Given the description of an element on the screen output the (x, y) to click on. 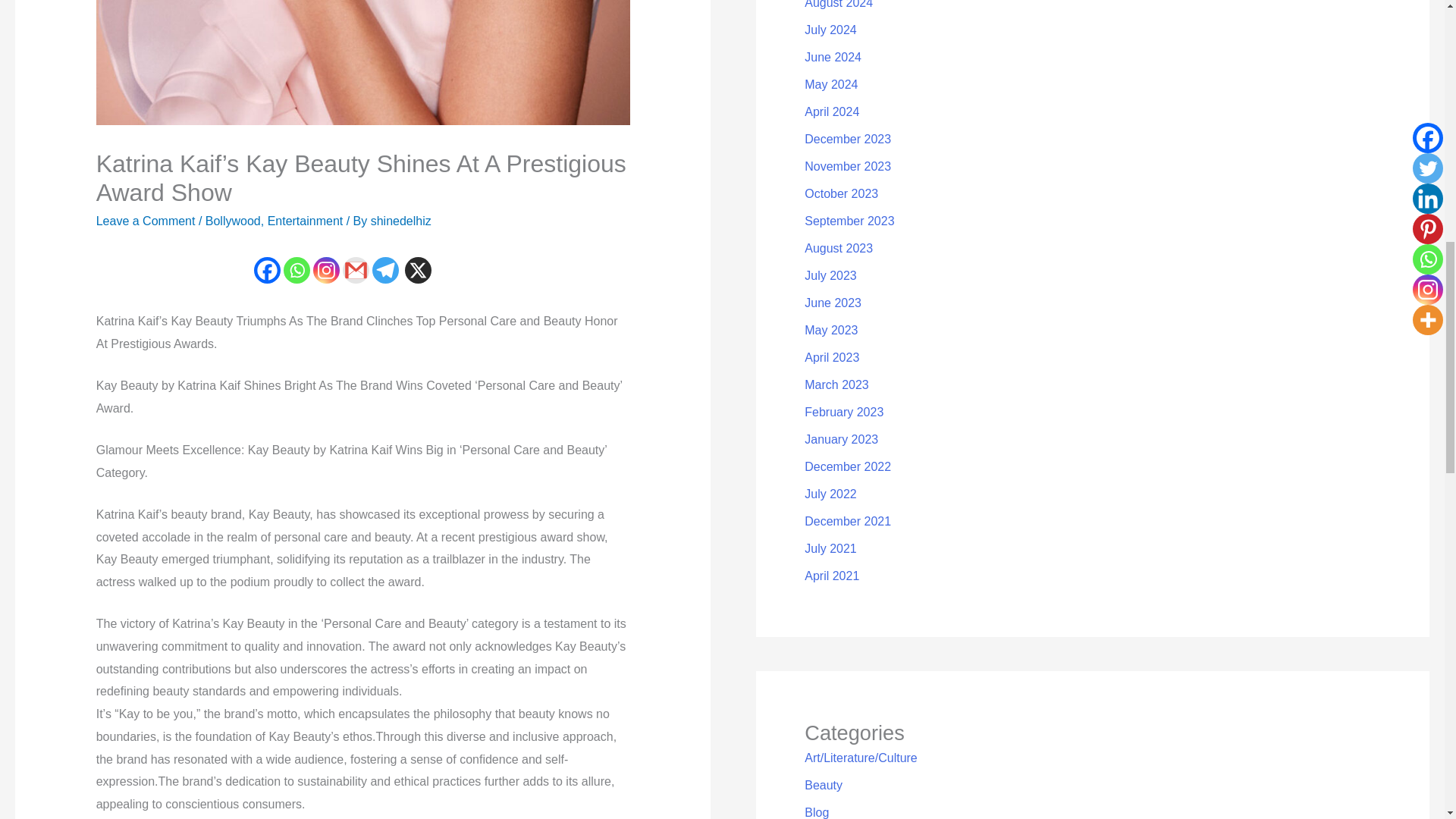
X (417, 270)
Whatsapp (296, 270)
Telegram (385, 270)
View all posts by shinedelhiz (400, 220)
Google Gmail (355, 270)
Facebook (267, 270)
Instagram (326, 270)
